Given the description of an element on the screen output the (x, y) to click on. 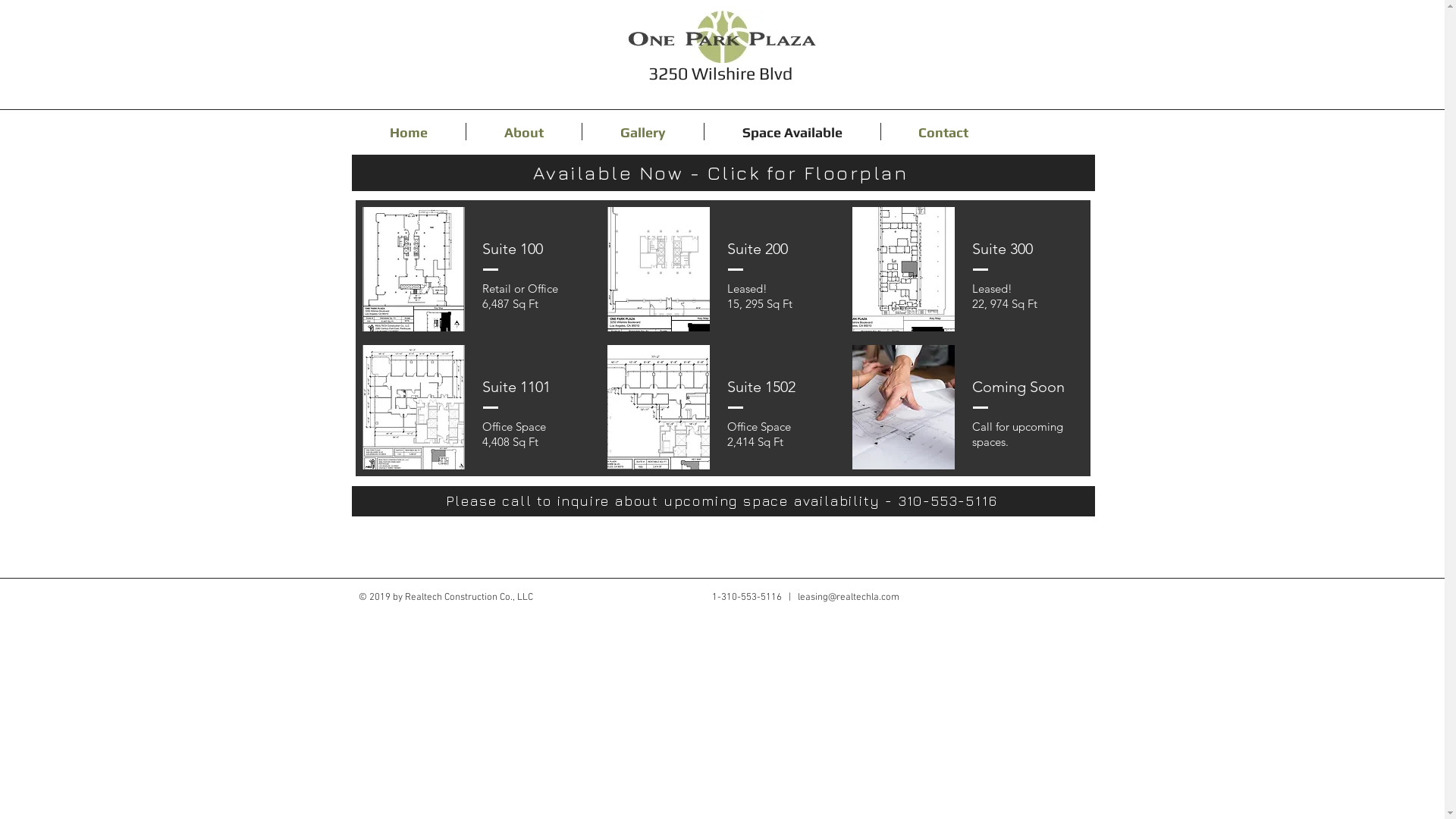
Home Element type: text (408, 131)
No Longer Availabe Element type: hover (903, 269)
Space Available Element type: text (791, 131)
3250 Wilshire Blvd Element type: text (720, 72)
No Longer Available Element type: hover (658, 269)
About Element type: text (522, 131)
Gallery Element type: text (642, 131)
leasing@realtechla.com Element type: text (848, 597)
Contact Element type: text (943, 131)
